Given the description of an element on the screen output the (x, y) to click on. 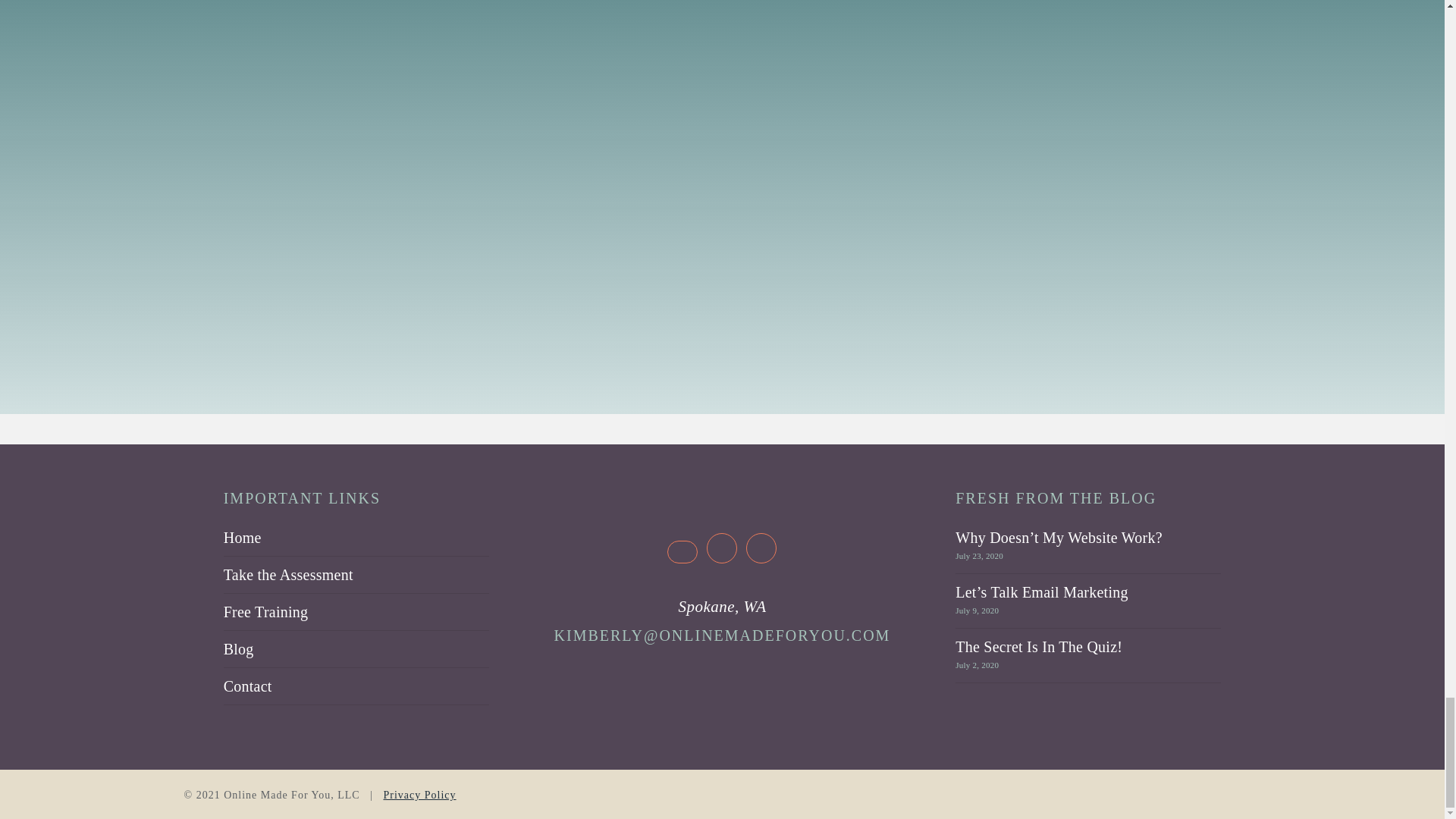
Home (356, 540)
Take the Assessment (356, 574)
Blog (356, 648)
Contact (356, 686)
The Secret Is In The Quiz! (1038, 646)
Free Training (356, 611)
Privacy Policy (420, 794)
wpforms-submit (522, 204)
